Given the description of an element on the screen output the (x, y) to click on. 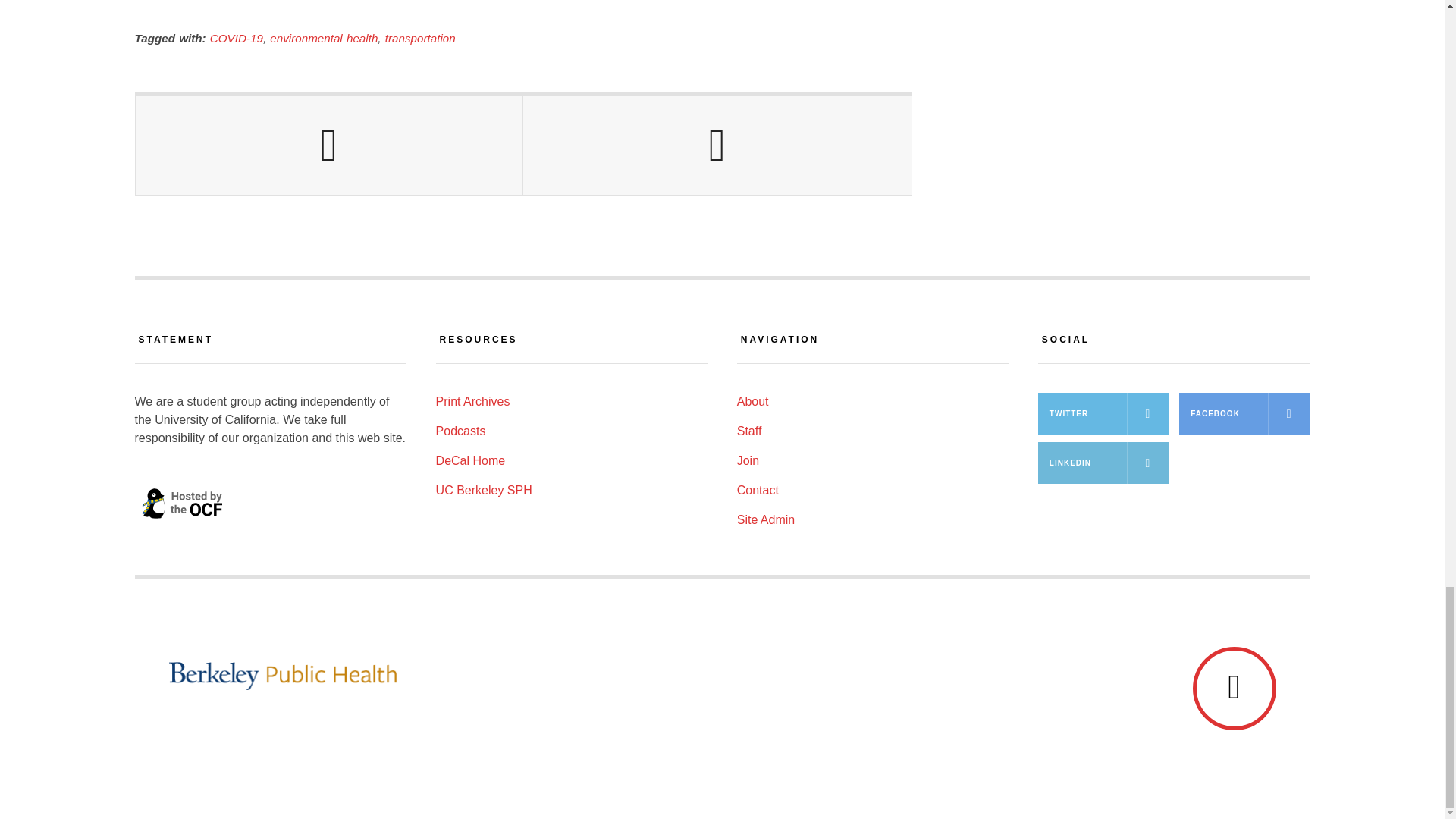
transportation (420, 38)
Next Post (716, 145)
Previous Post (328, 145)
UC Berkeley School of Public Health (680, 675)
environmental health (323, 38)
COVID-19 (236, 38)
